Given the description of an element on the screen output the (x, y) to click on. 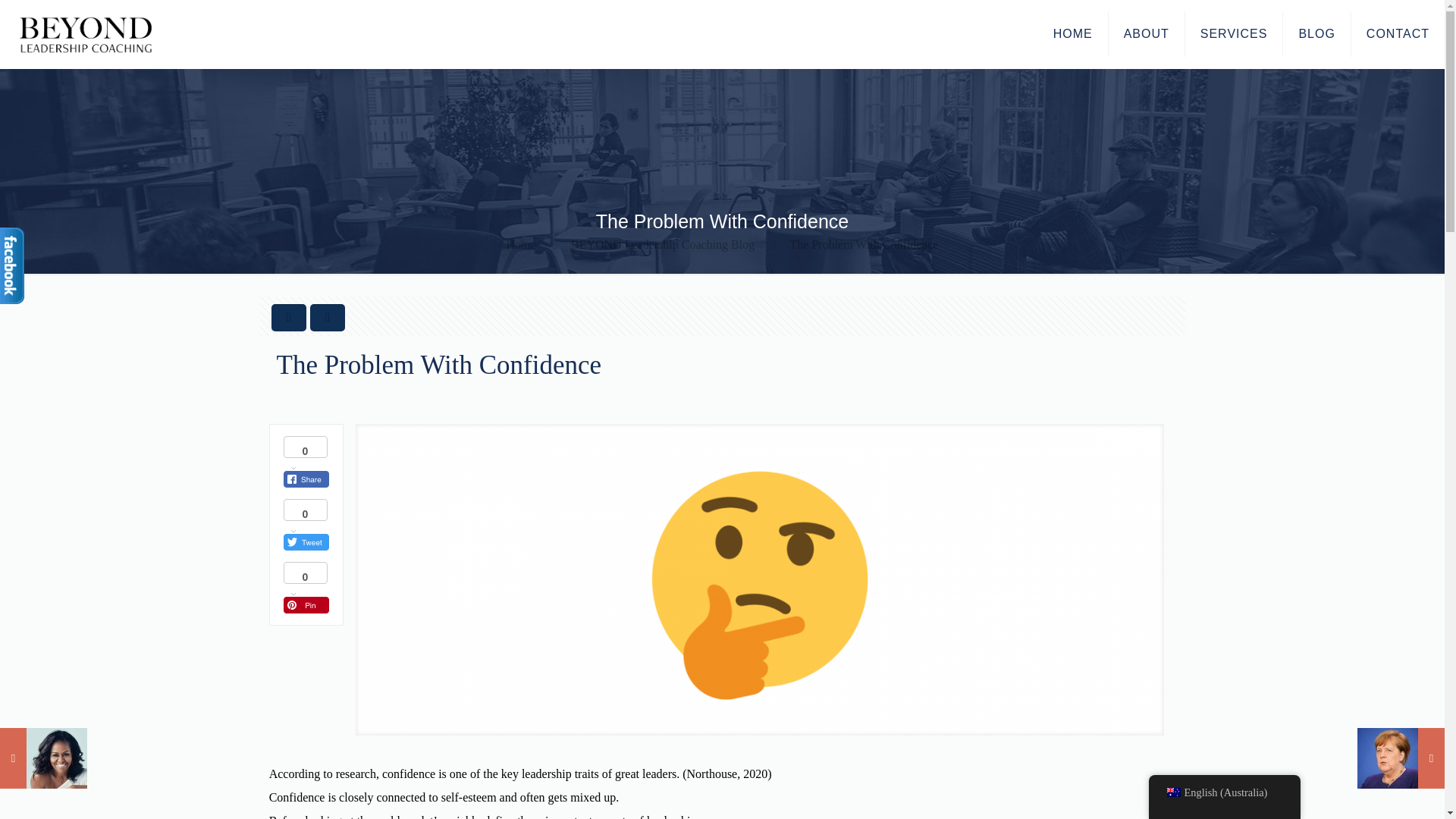
Home (520, 244)
HOME (1073, 33)
BEYOND Leadership Coaching Blog (662, 244)
SERVICES (1234, 33)
Beyond Leadership Coaching (84, 33)
BLOG (1316, 33)
ABOUT (1146, 33)
